Given the description of an element on the screen output the (x, y) to click on. 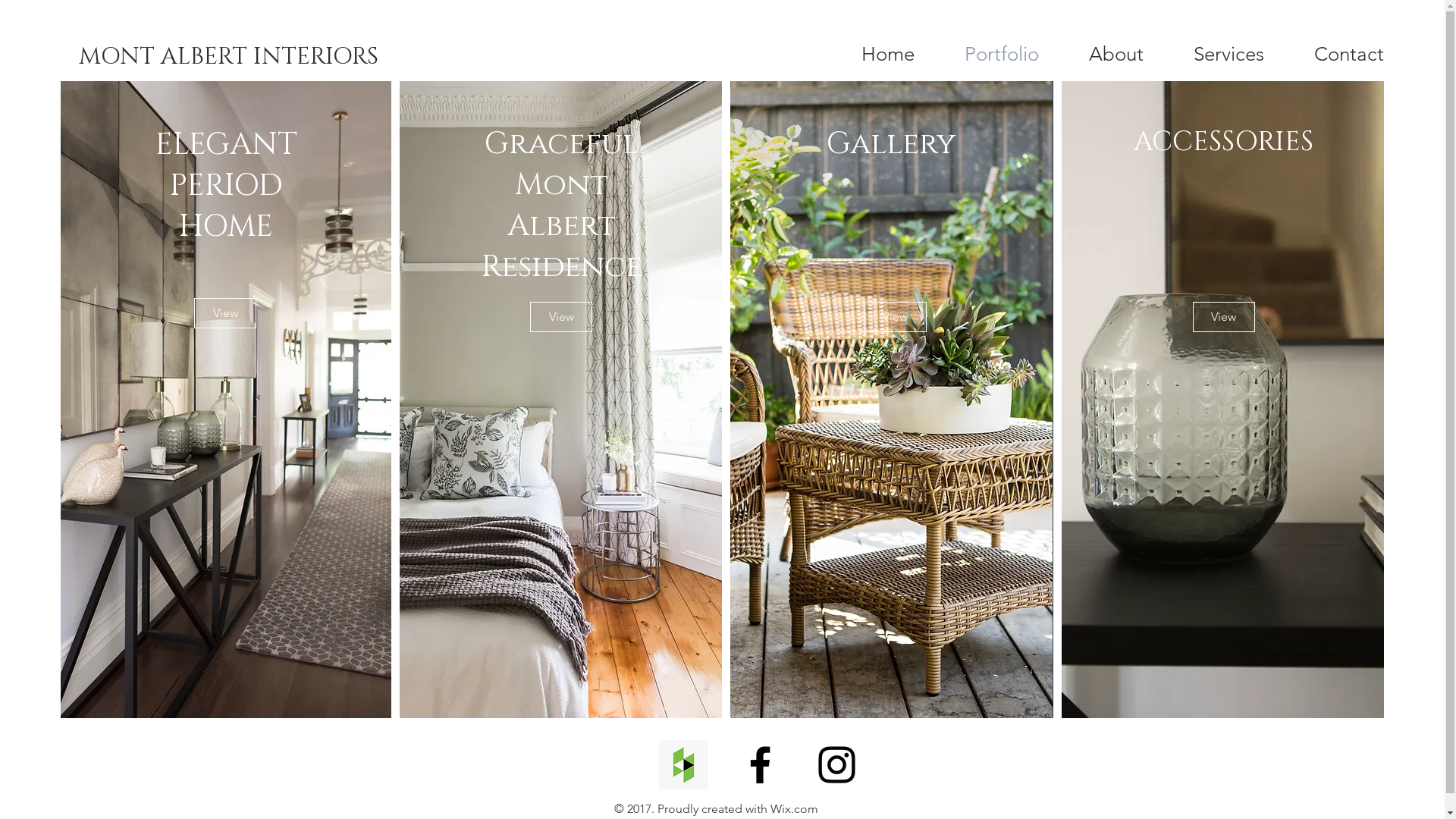
About Element type: text (1115, 53)
Home Element type: text (887, 53)
View Element type: text (561, 316)
View Element type: text (1223, 316)
View Element type: text (895, 316)
Contact Element type: text (1348, 53)
Portfolio Element type: text (1001, 53)
View Element type: text (225, 313)
MONT ALBERT INTERIORS Element type: text (227, 56)
Services Element type: text (1228, 53)
Wix.com Element type: text (794, 808)
